Given the description of an element on the screen output the (x, y) to click on. 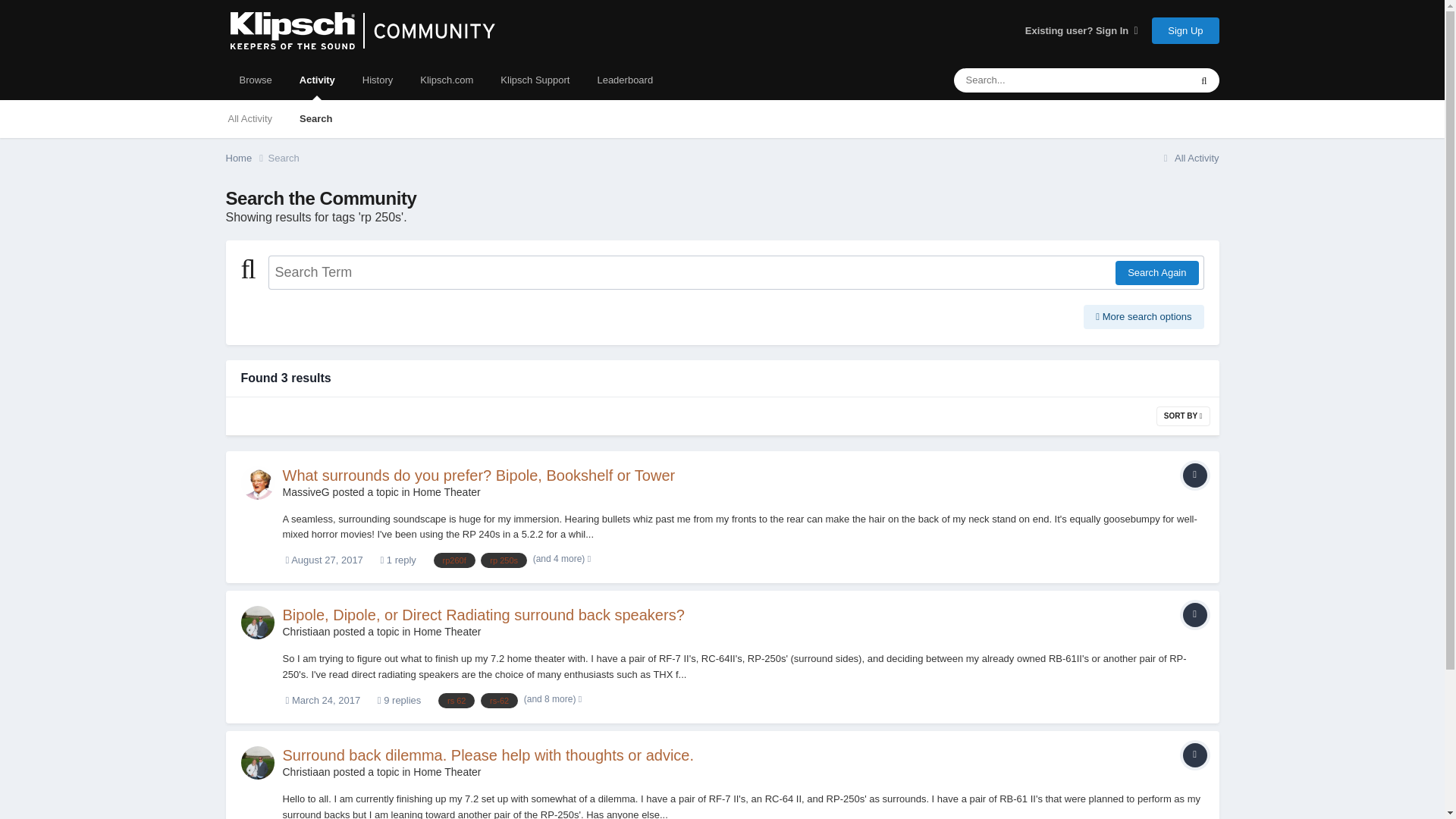
Go to MassiveG's profile (305, 491)
Search (283, 157)
Browse (255, 79)
Leaderboard (624, 79)
Search Again (1156, 273)
Go to Christiaan's profile (258, 622)
Find other content tagged with 'rp 250s' (503, 560)
All Activity (1188, 157)
Topic (1194, 475)
History (377, 79)
